Given the description of an element on the screen output the (x, y) to click on. 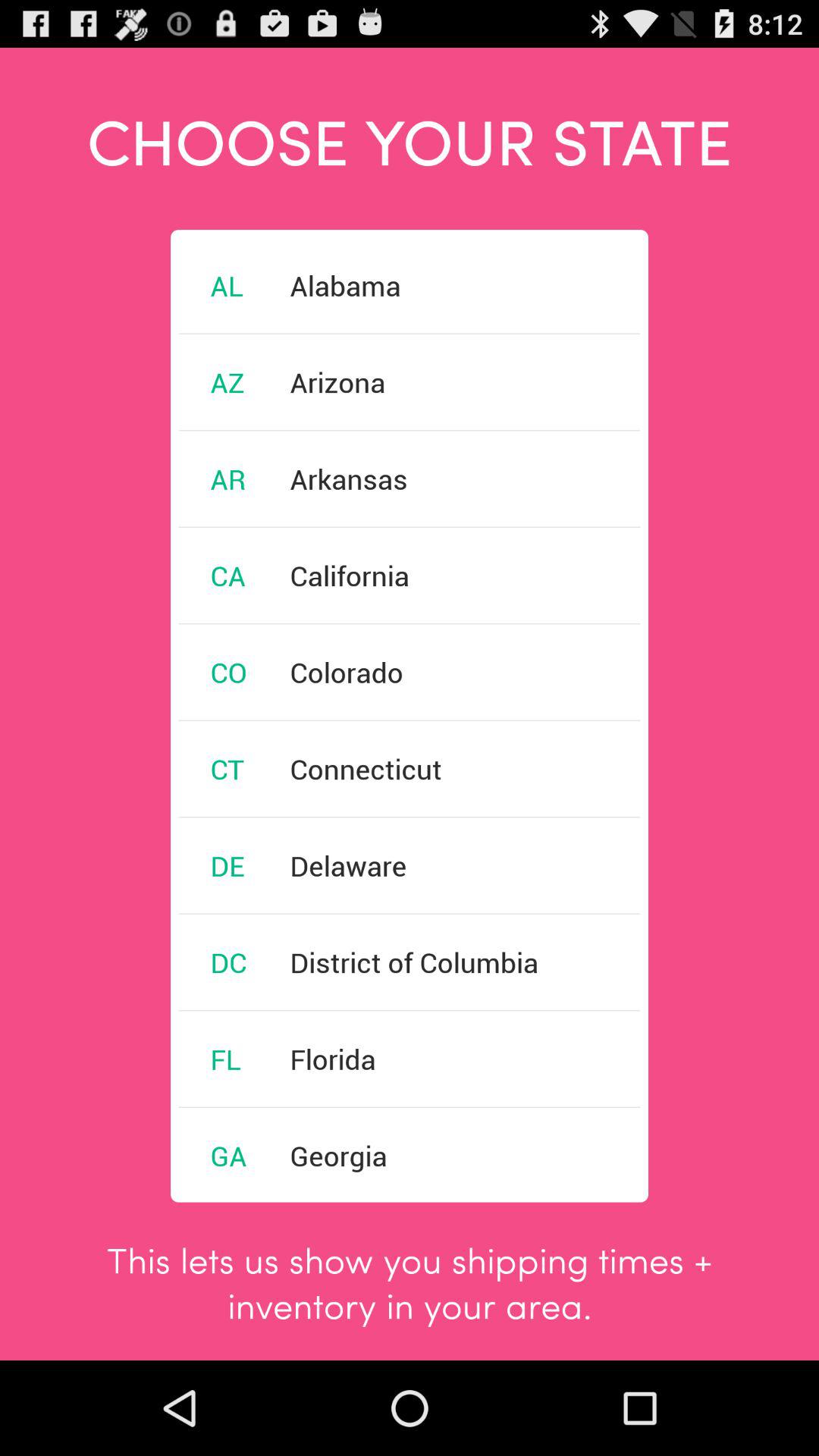
open the item above the co item (227, 575)
